Given the description of an element on the screen output the (x, y) to click on. 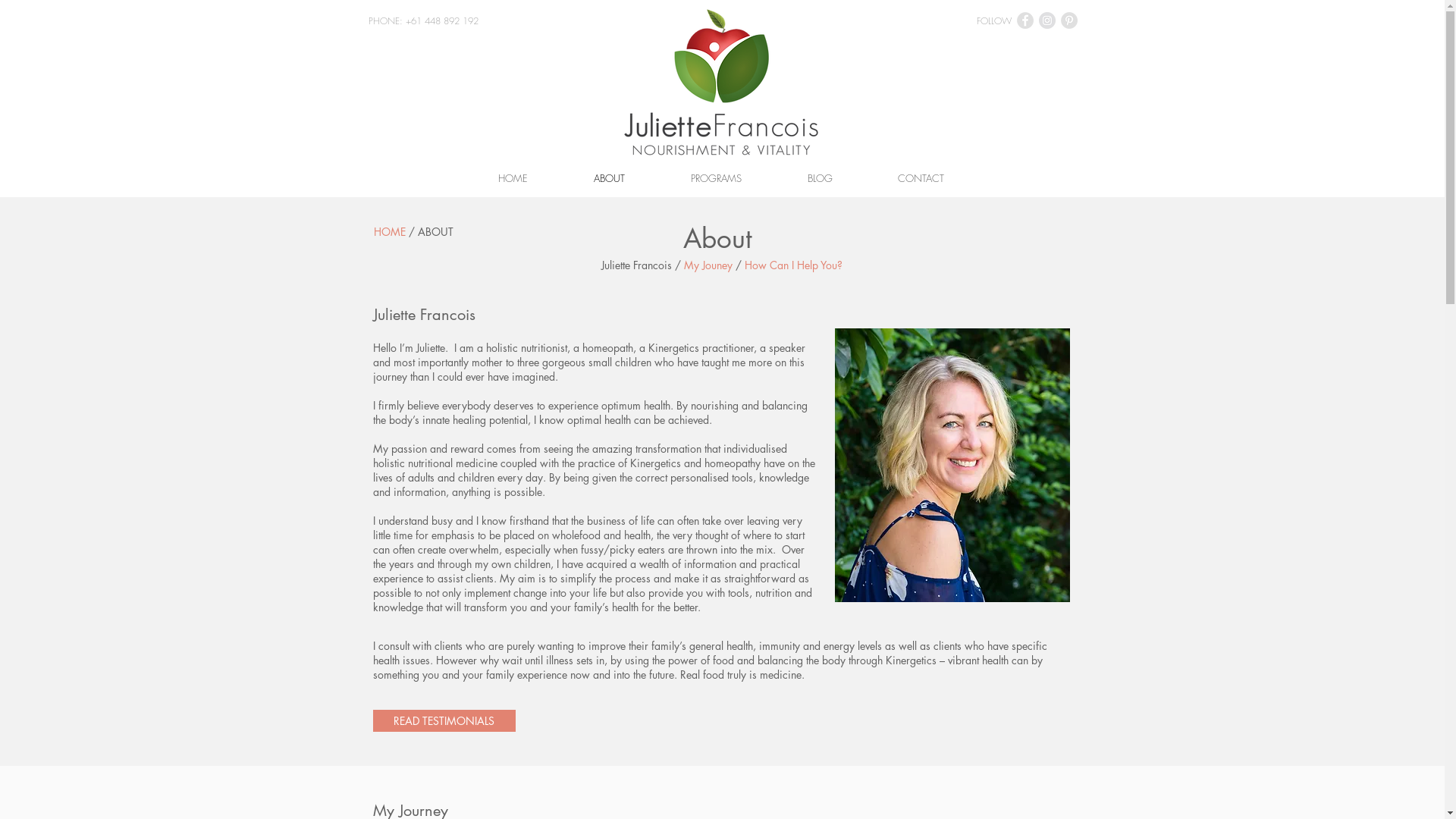
My Jouney Element type: text (708, 264)
ABOUT Element type: text (609, 178)
BLOG Element type: text (820, 178)
How Can I Help You? Element type: text (793, 264)
READ TESTIMONIALS Element type: text (444, 720)
CONTACT Element type: text (919, 178)
Logo-PNG.png Element type: hover (721, 82)
HOME Element type: text (388, 231)
HOME Element type: text (513, 178)
PROGRAMS Element type: text (716, 178)
